Given the description of an element on the screen output the (x, y) to click on. 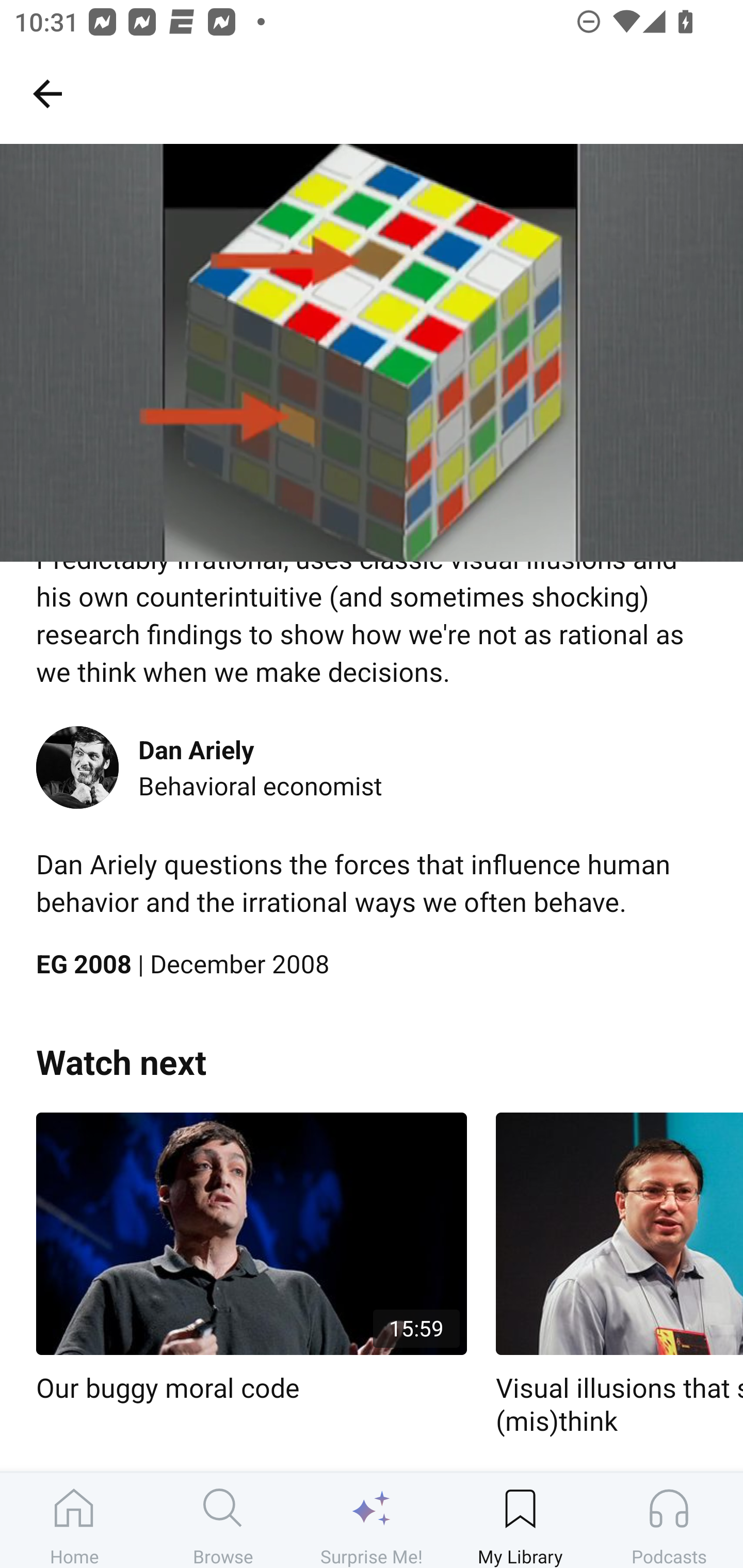
My Library, back (47, 92)
15:59 Our buggy moral code (251, 1258)
Visual illusions that show how we (mis)think (619, 1275)
Home (74, 1520)
Browse (222, 1520)
Surprise Me! (371, 1520)
My Library (519, 1520)
Podcasts (668, 1520)
